Given the description of an element on the screen output the (x, y) to click on. 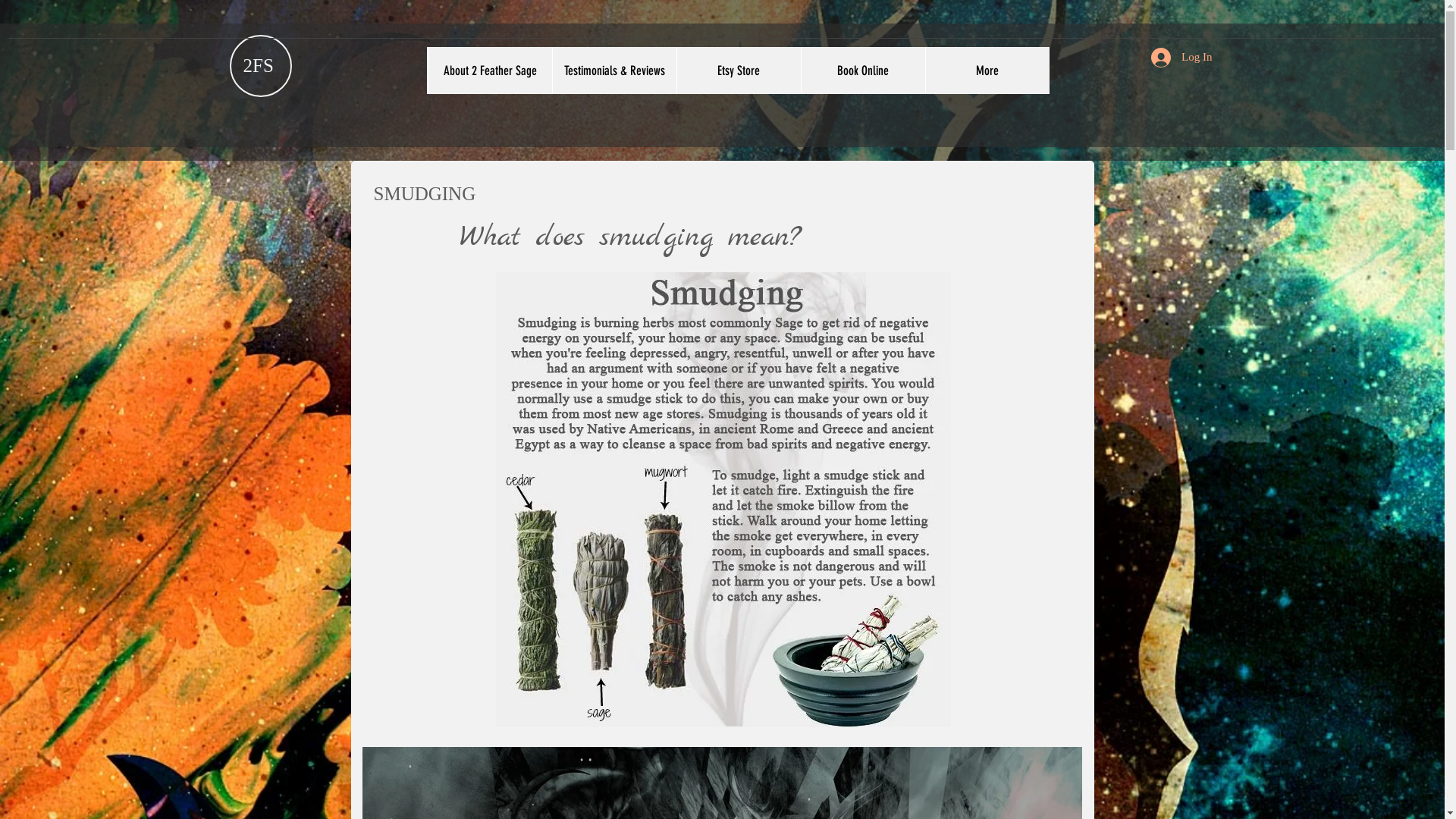
Etsy Store Element type: text (738, 70)
Smudge Meaning.jpg Element type: hover (722, 498)
Book Online Element type: text (862, 70)
2FS Element type: text (257, 65)
About 2 Feather Sage Element type: text (489, 70)
Log In Element type: text (1181, 57)
Testimonials & Reviews Element type: text (614, 70)
